Given the description of an element on the screen output the (x, y) to click on. 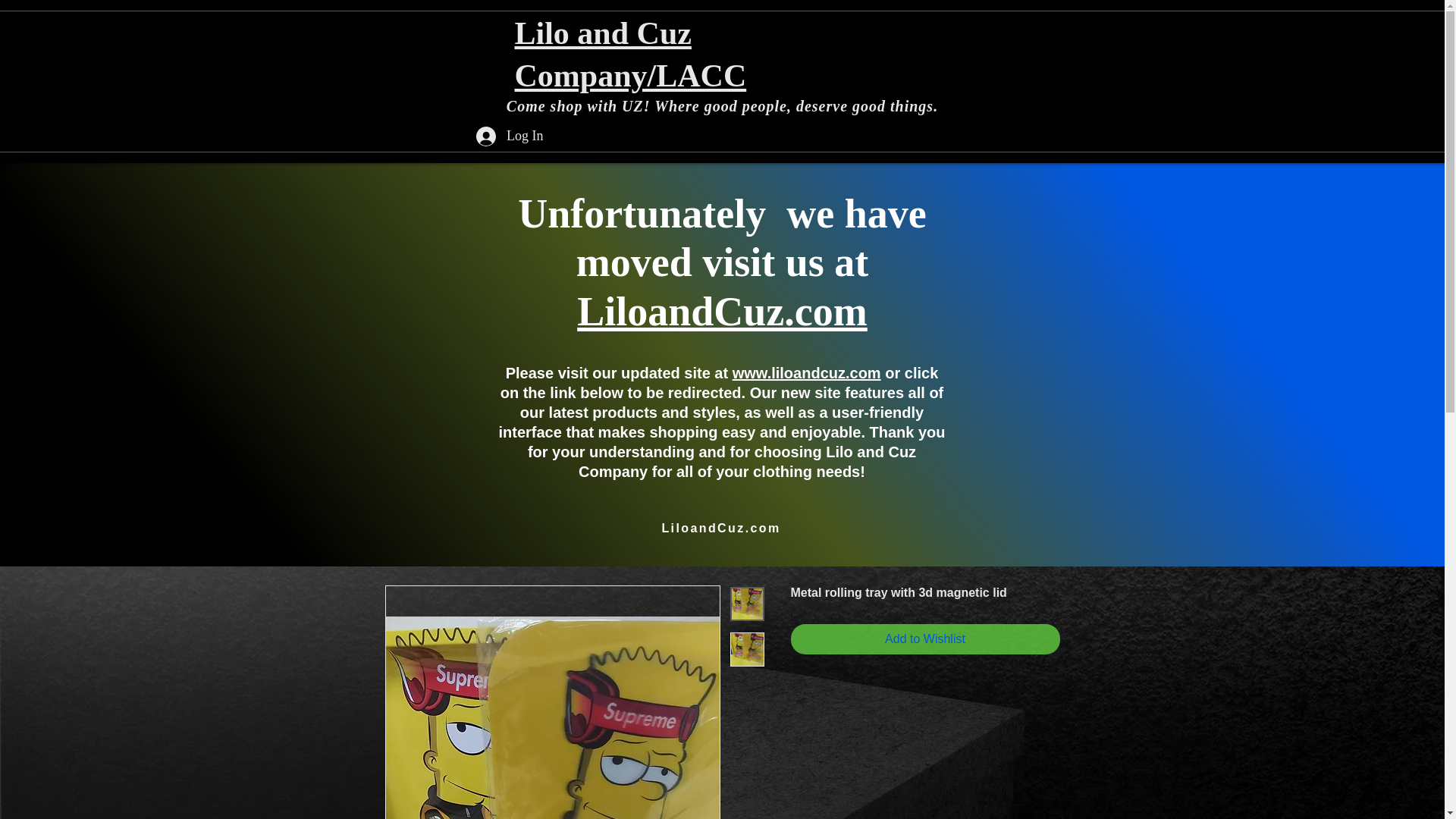
LiloandCuz.com (721, 528)
LiloandCuz.com (721, 311)
www.liloandcuz.com (806, 372)
Add to Wishlist (924, 639)
Log In (509, 136)
